Given the description of an element on the screen output the (x, y) to click on. 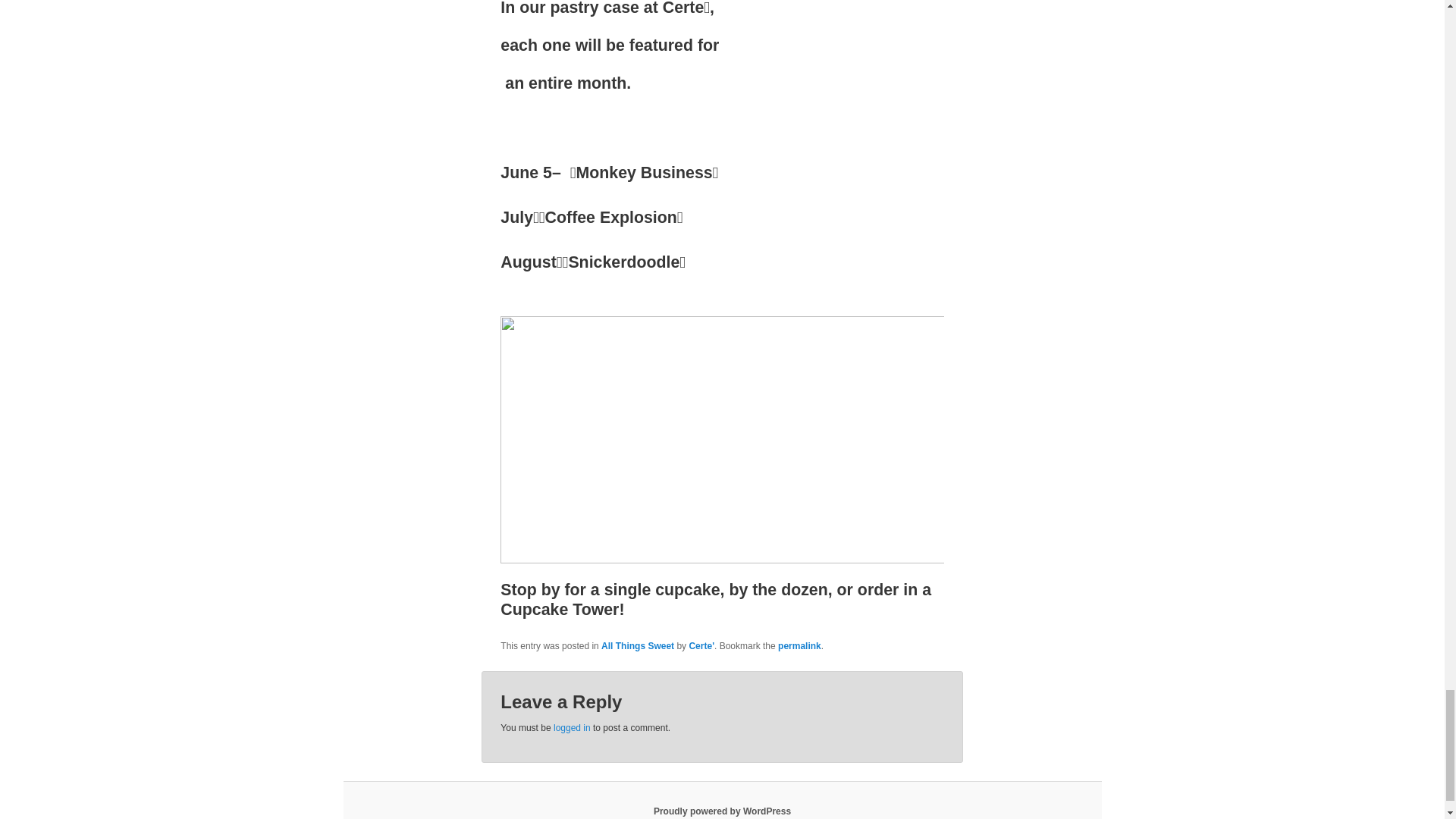
permalink (799, 645)
Certe' (701, 645)
Permalink to Dream Cupcake contest is sweet success (799, 645)
Proudly powered by WordPress (721, 810)
logged in (572, 727)
All Things Sweet (637, 645)
Semantic Personal Publishing Platform (721, 810)
